Given the description of an element on the screen output the (x, y) to click on. 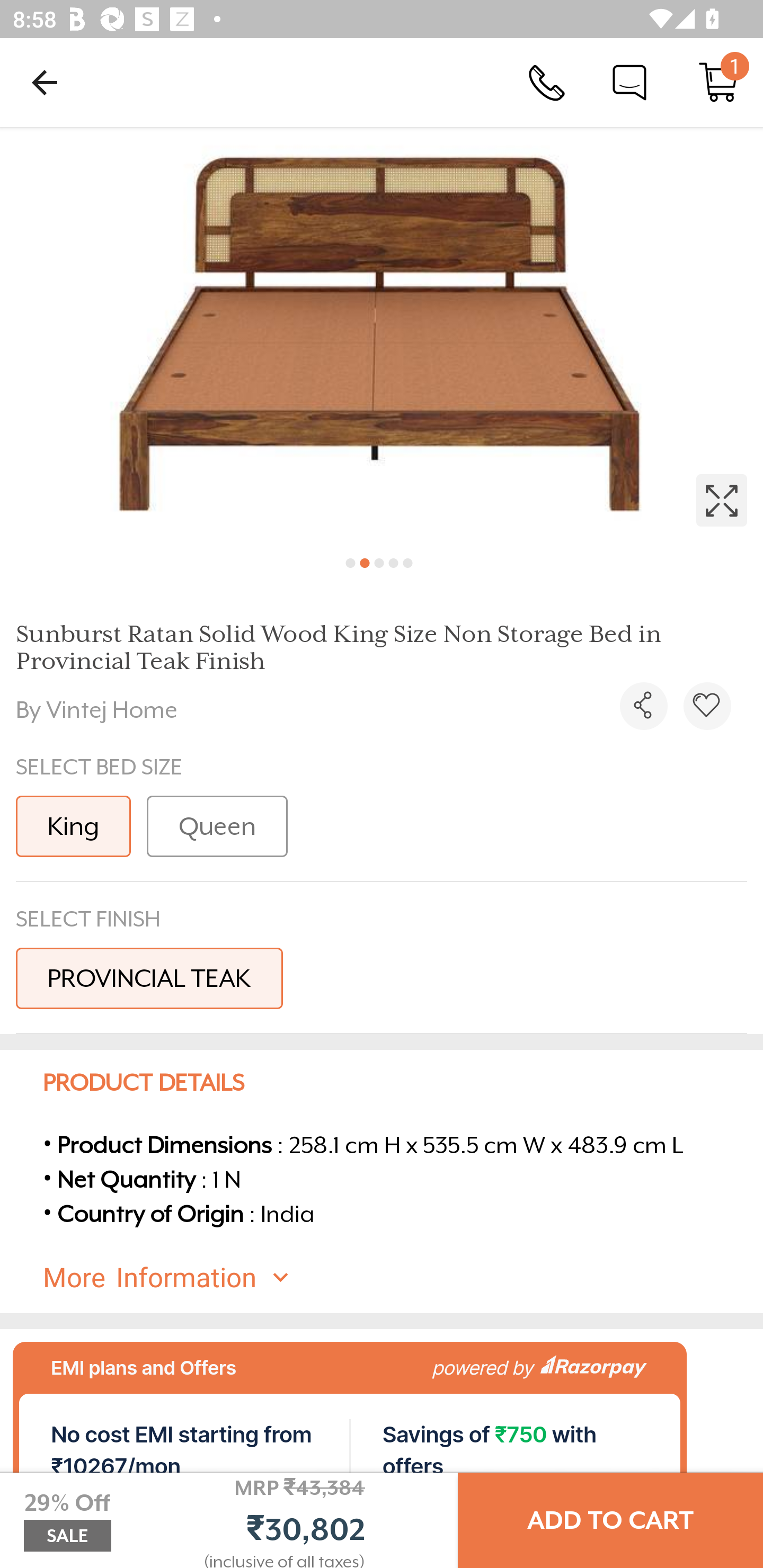
Navigate up (44, 82)
Call Us (546, 81)
Chat (629, 81)
Cart (718, 81)
 (381, 334)
 (643, 706)
 (706, 706)
King (73, 825)
Queen (216, 825)
PROVINCIAL TEAK (149, 978)
More Information  (396, 1277)
ADD TO CART (610, 1520)
